Given the description of an element on the screen output the (x, y) to click on. 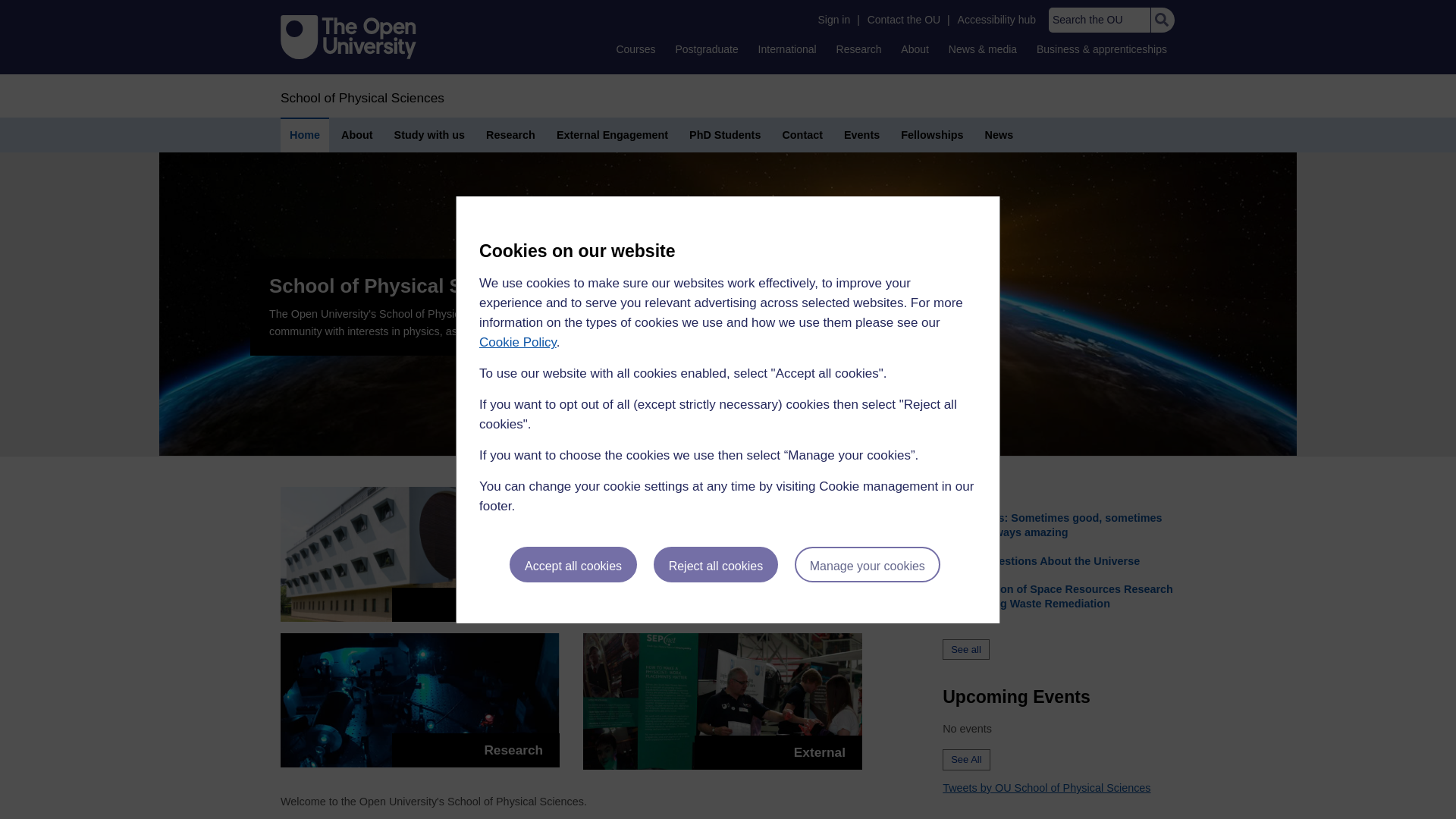
Postgraduate (705, 49)
About (914, 49)
Search (1161, 19)
International (787, 49)
Research (858, 49)
Cookie Policy (517, 341)
Search (1161, 19)
Manage your cookies (867, 564)
Home (362, 97)
Sign in (833, 19)
Accessibility hub (997, 19)
Accept all cookies (573, 564)
Reject all cookies (715, 564)
Courses (635, 49)
